Given the description of an element on the screen output the (x, y) to click on. 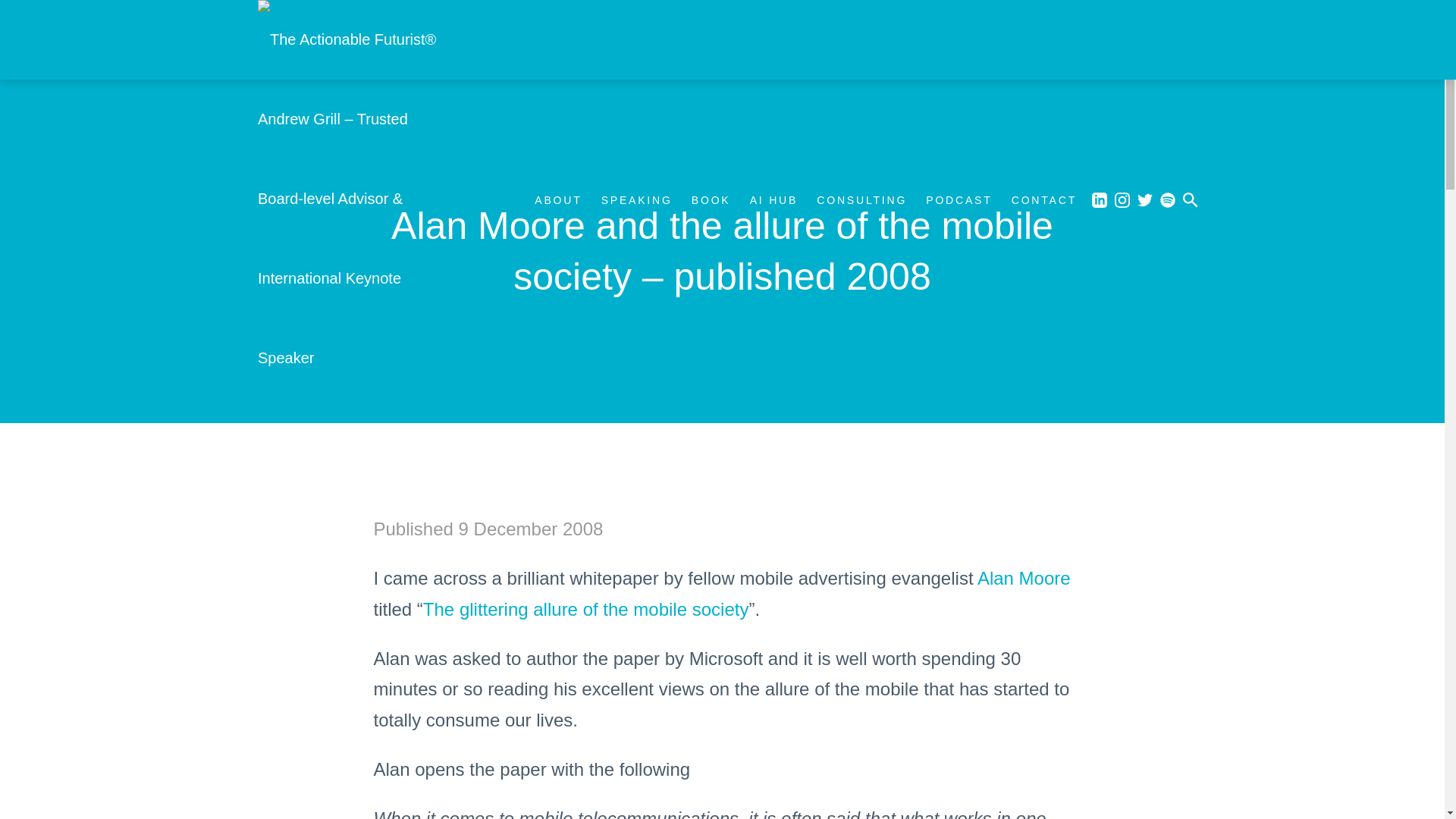
AI HUB (773, 200)
PODCAST (958, 200)
BOOK (710, 200)
CONTACT (1044, 200)
Alan Moore (1023, 578)
CONSULTING (861, 200)
The glittering allure of the mobile society (586, 608)
ABOUT (557, 200)
SPEAKING (636, 200)
